Given the description of an element on the screen output the (x, y) to click on. 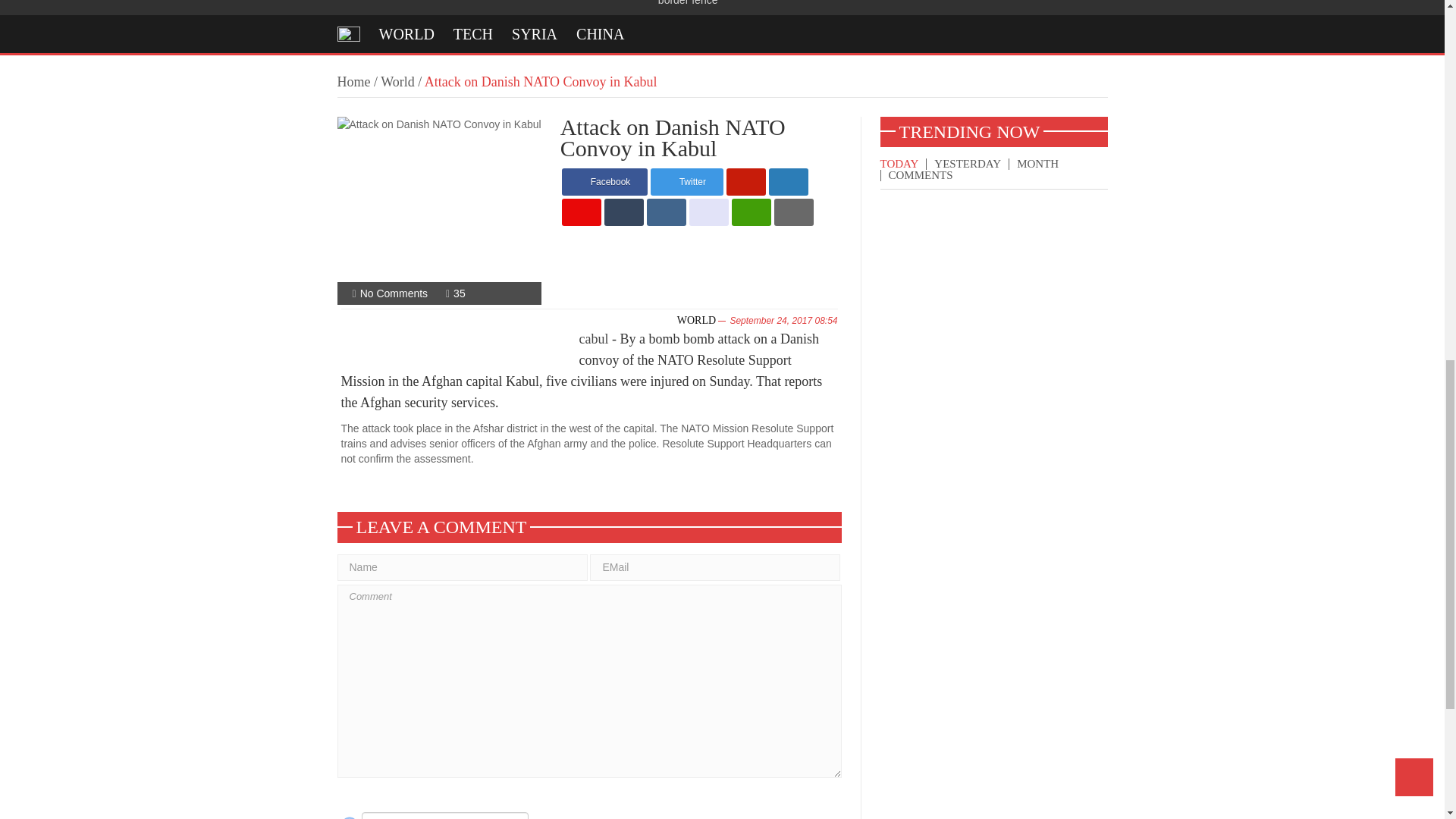
CHINA (600, 33)
cabul (593, 338)
World (397, 81)
No Comments (393, 293)
SYRIA (534, 33)
TECH (472, 33)
WORLD (405, 33)
WORLD (696, 319)
Comment on Attack on Danish NATO Convoy in Kabul (393, 293)
